Given the description of an element on the screen output the (x, y) to click on. 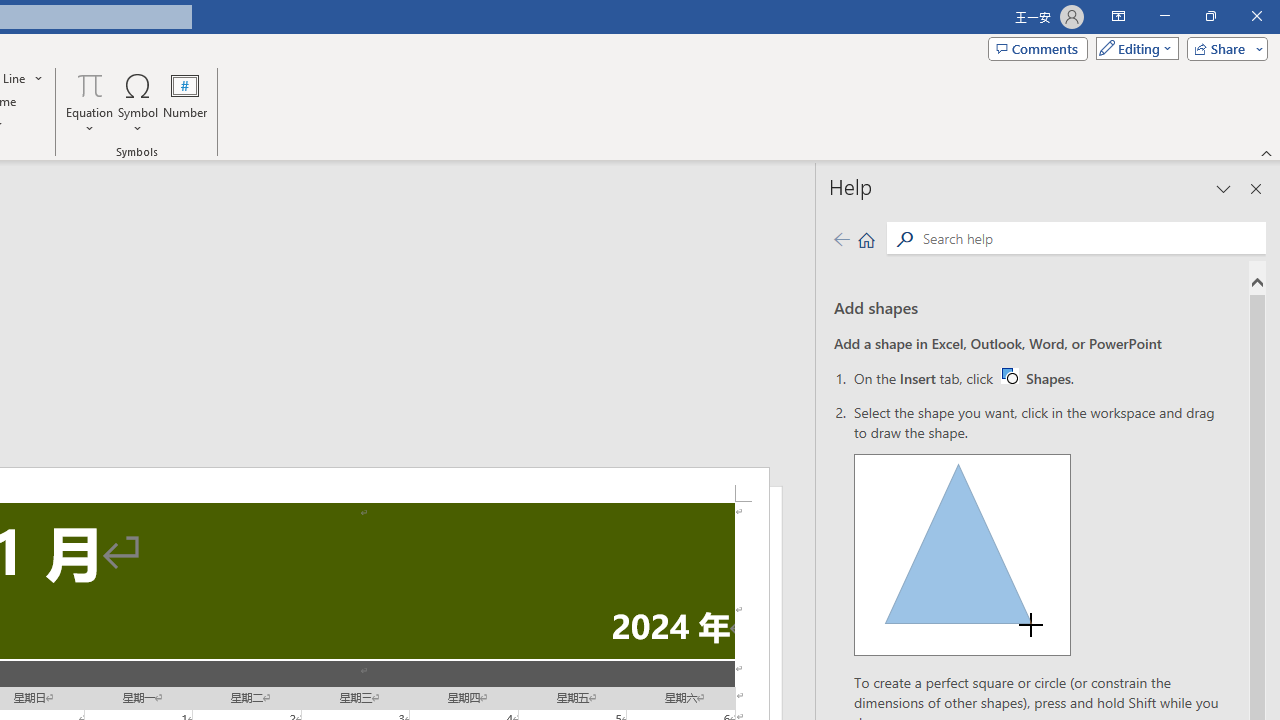
Symbol (138, 102)
Equation (90, 84)
Drawing a shape (1036, 377)
Previous page (962, 554)
